Given the description of an element on the screen output the (x, y) to click on. 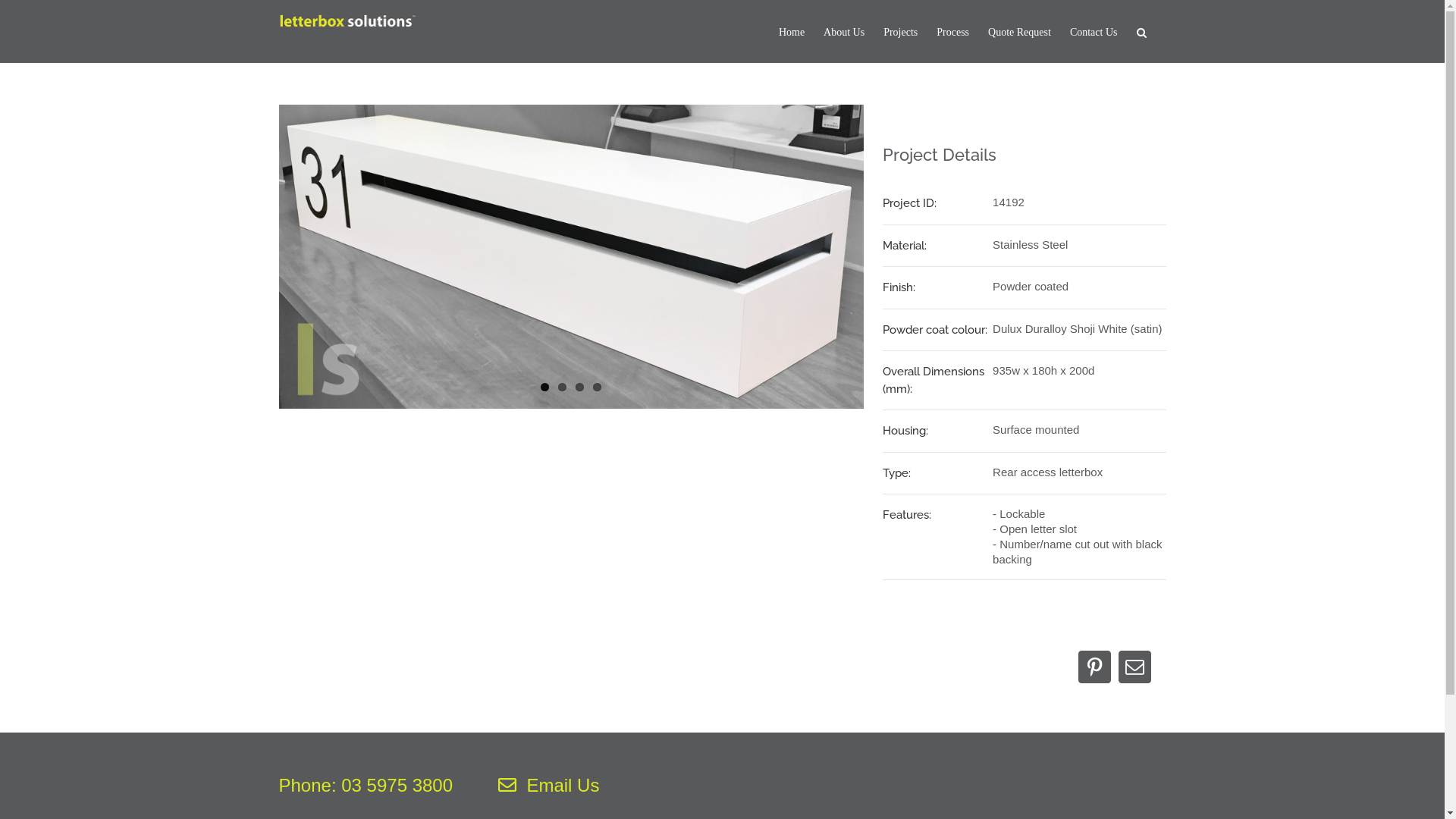
Quote Request Element type: text (1019, 31)
1 Element type: text (544, 386)
  Email Us Element type: text (548, 785)
2 Element type: text (562, 386)
Projects Element type: text (900, 31)
4 Element type: text (597, 386)
Phone: 03 5975 3800 Element type: text (366, 785)
About Us Element type: text (843, 31)
Search Element type: hover (1140, 31)
Email Element type: text (1133, 666)
Contact Us Element type: text (1093, 31)
Home Element type: text (791, 31)
Pinterest Element type: text (1094, 666)
3 Element type: text (579, 386)
Process Element type: text (952, 31)
